Given the description of an element on the screen output the (x, y) to click on. 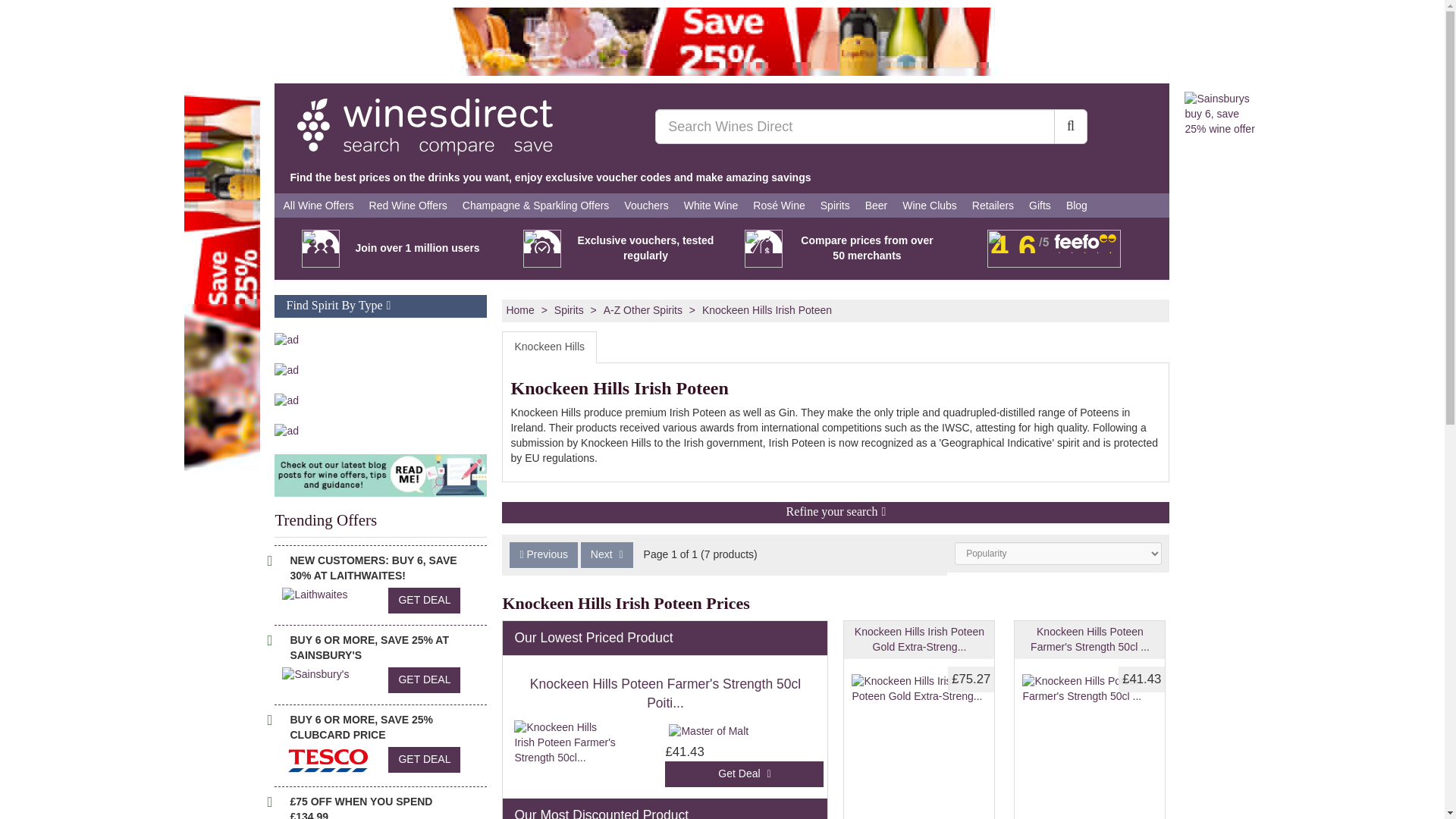
Vouchers (645, 205)
Knockeen Hills Poteen Farmer's Strength 50cl Poiti... (664, 693)
Beer (876, 205)
A-Z Other Spirits (643, 309)
White Wine (711, 205)
Retailers (992, 205)
Get Deal (744, 774)
Wine Clubs (929, 205)
Spirits (568, 309)
Gifts (1040, 205)
Blog (1076, 205)
Home (519, 309)
Previous (542, 555)
Knockeen Hills Irish Poteen (766, 309)
Next (606, 555)
